Given the description of an element on the screen output the (x, y) to click on. 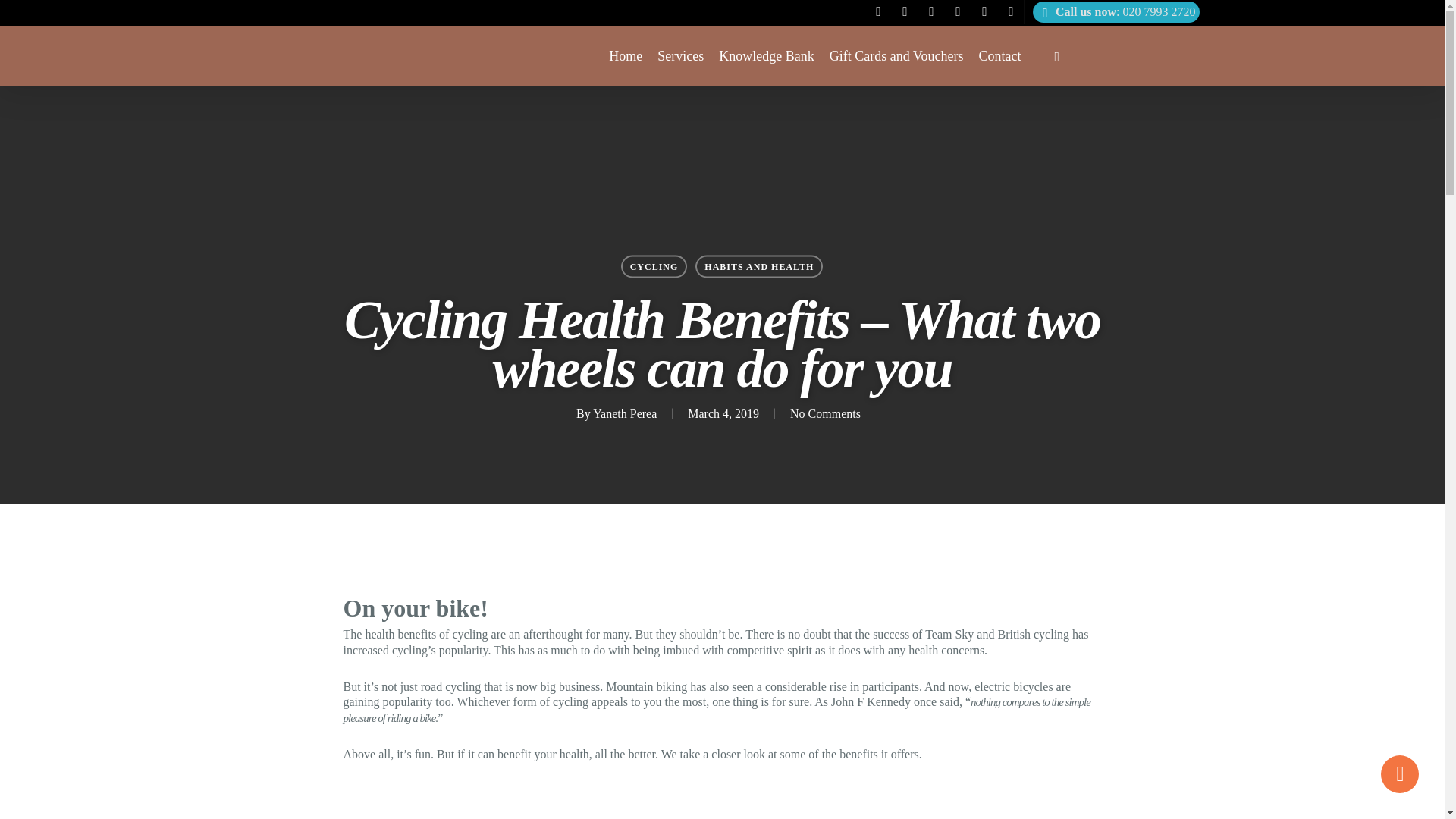
Knowledge Bank (766, 55)
Call us now: 020 7993 2720 (1115, 11)
No Comments (825, 412)
Posts by Yaneth Perea (624, 412)
Gift Cards and Vouchers (896, 55)
Services (680, 55)
Contact (999, 55)
Yaneth Perea (624, 412)
Home (625, 55)
CYCLING (654, 265)
